Given the description of an element on the screen output the (x, y) to click on. 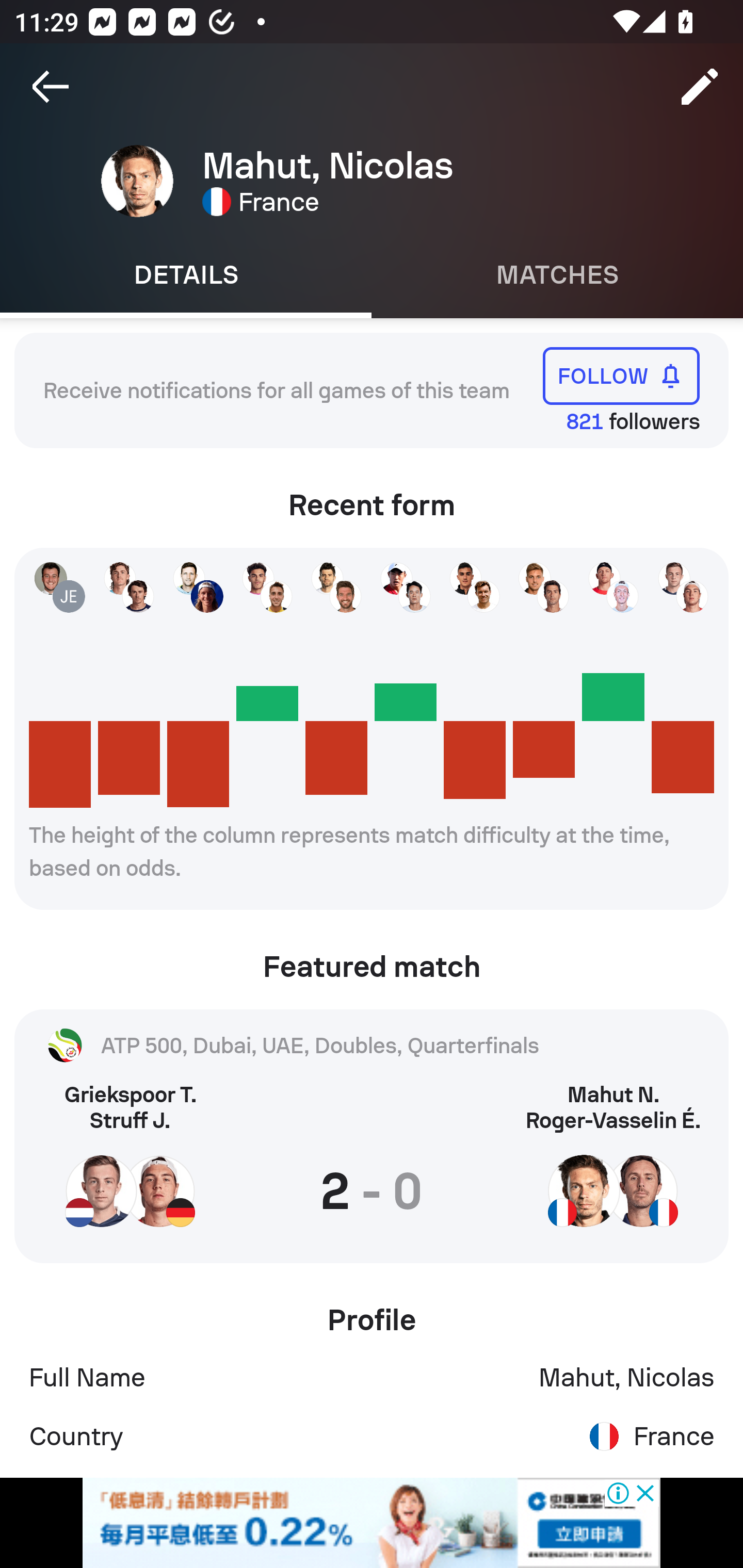
Navigate up (50, 86)
Edit (699, 86)
Matches MATCHES (557, 275)
FOLLOW (621, 375)
Advertisement (371, 1522)
